Given the description of an element on the screen output the (x, y) to click on. 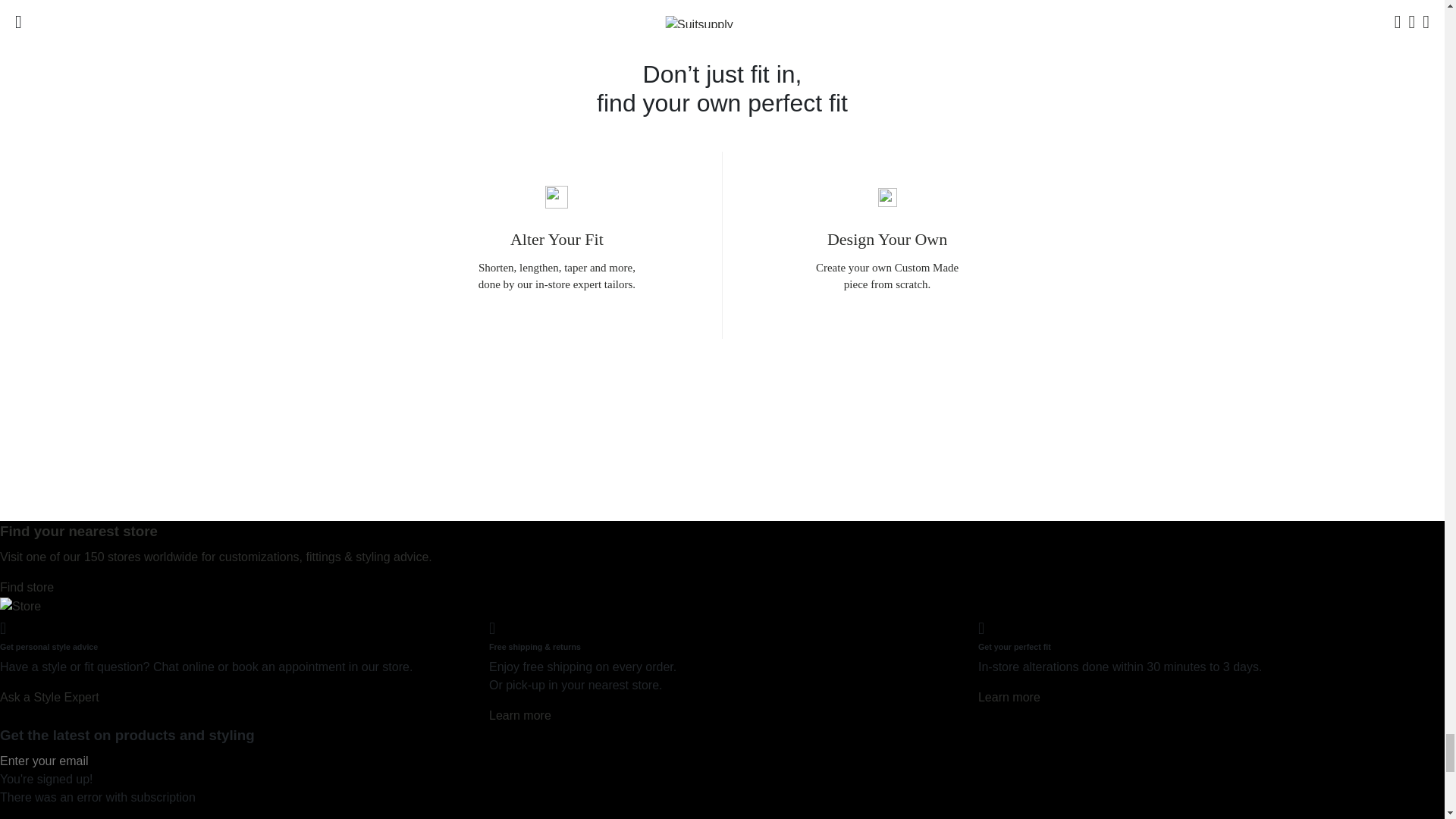
Fast, free shipping (520, 715)
Get your perfect fit (1009, 697)
Ask a Style Expert (49, 697)
